Given the description of an element on the screen output the (x, y) to click on. 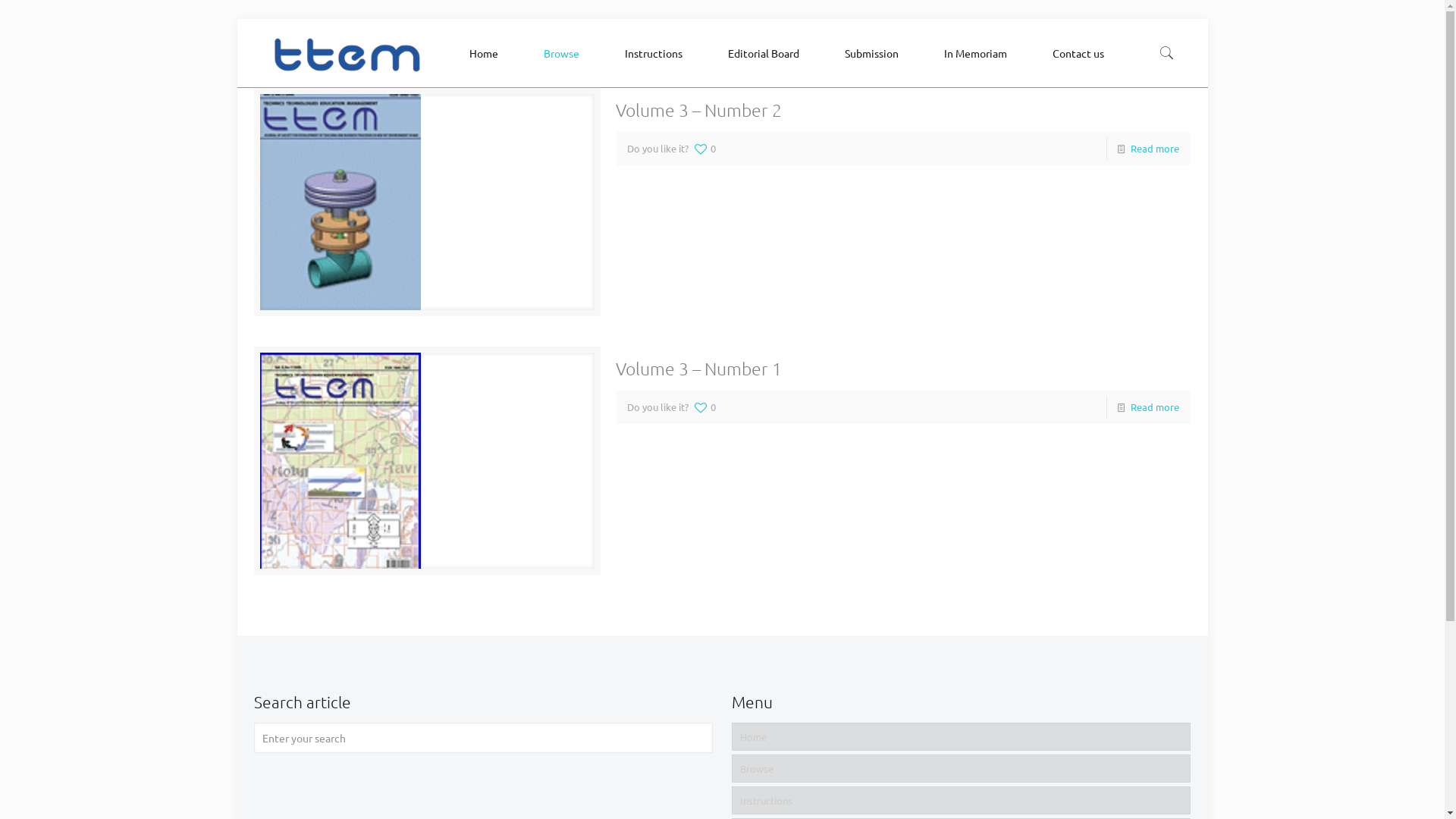
Editorial Board Element type: text (767, 52)
Read more Element type: text (1154, 406)
Read more Element type: text (1154, 147)
Home Element type: text (960, 736)
Browse Element type: text (960, 768)
In Memoriam Element type: text (978, 52)
0 Element type: text (703, 148)
Instructions Element type: text (657, 52)
Home Element type: text (487, 52)
TTEM - Technics Technologies Education Management Element type: hover (346, 52)
Contact us Element type: text (1081, 52)
Browse Element type: text (565, 52)
0 Element type: text (703, 406)
Instructions Element type: text (960, 800)
Submission Element type: text (875, 52)
